Given the description of an element on the screen output the (x, y) to click on. 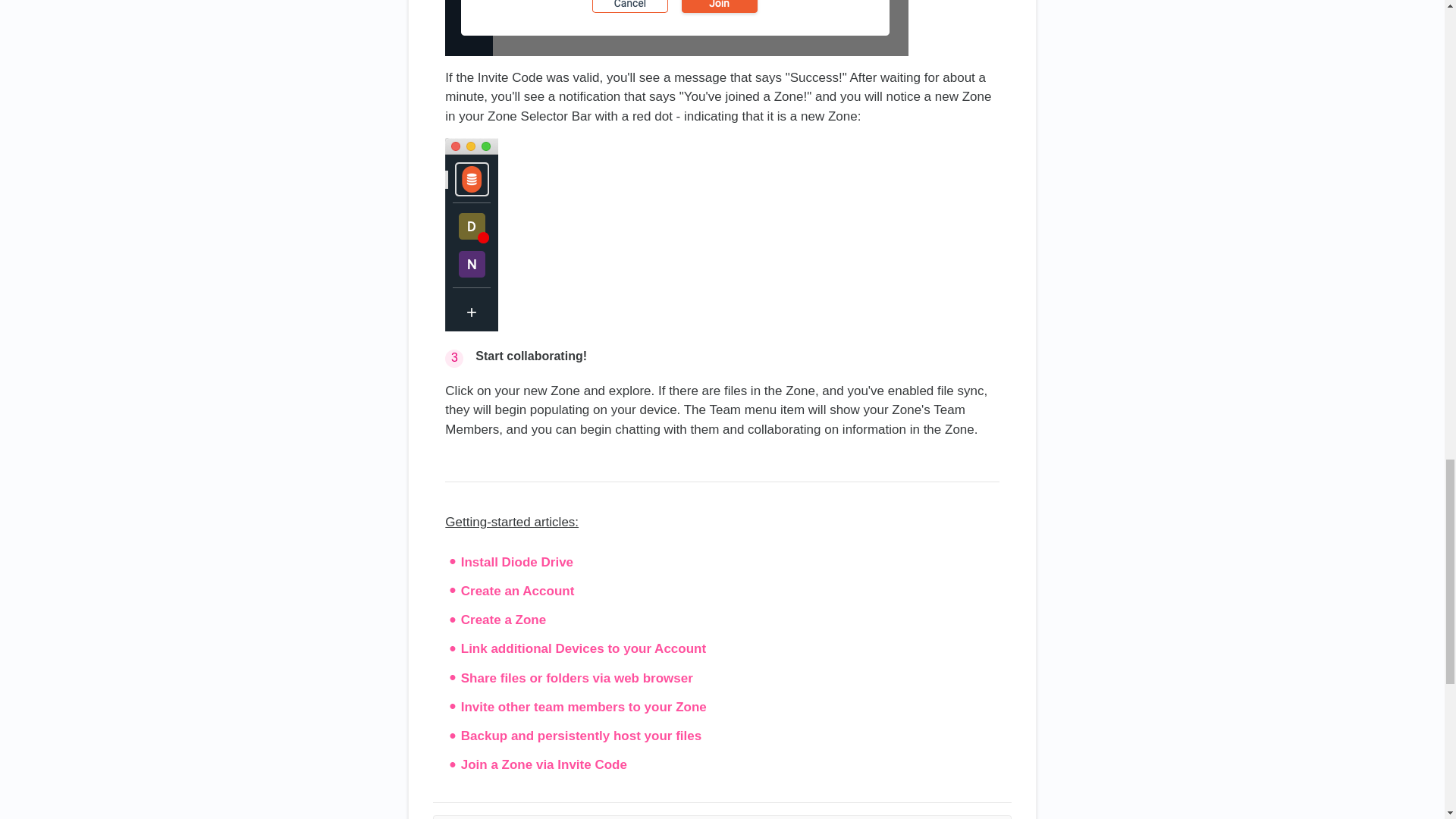
Share files or folders via web browser (577, 677)
Backup and persistently host your files (581, 735)
Create an Account (518, 590)
Install Diode Drive (517, 562)
Join a Zone via Invite Code (544, 764)
Create a Zone (503, 619)
Invite other team members to your Zone (583, 707)
Link additional Devices to your Account (583, 648)
